Given the description of an element on the screen output the (x, y) to click on. 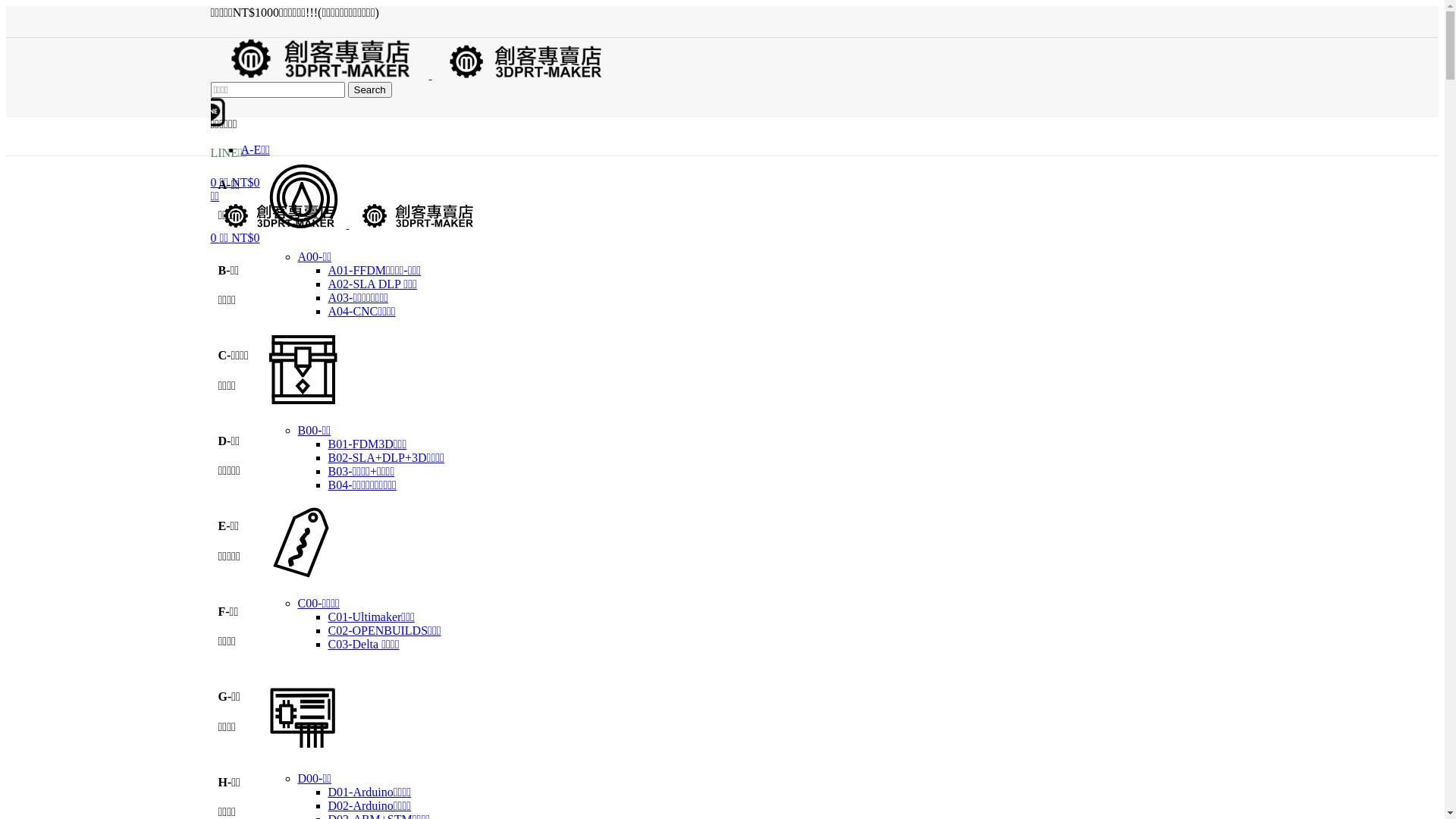
line Element type: hover (217, 111)
Search Element type: text (369, 89)
